Given the description of an element on the screen output the (x, y) to click on. 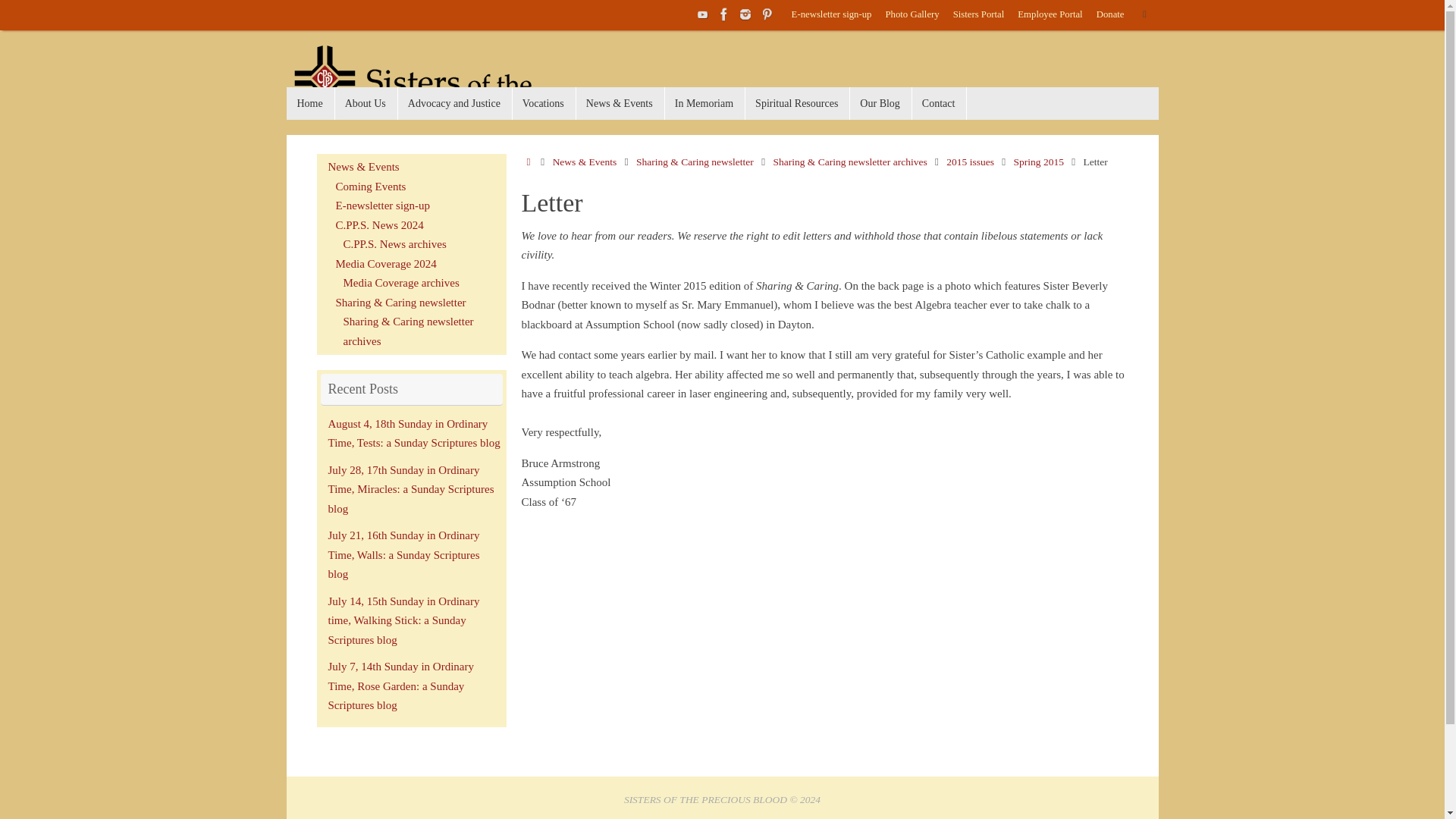
Media Coverage 2024 (384, 263)
Spiritual Resources (796, 102)
Coming Events (370, 186)
Home (528, 161)
Contact (938, 102)
Our Blog (879, 102)
Instagram (745, 14)
Sisters Portal (978, 15)
YouTube (703, 14)
C.PP.S. News 2024 (378, 224)
